Given the description of an element on the screen output the (x, y) to click on. 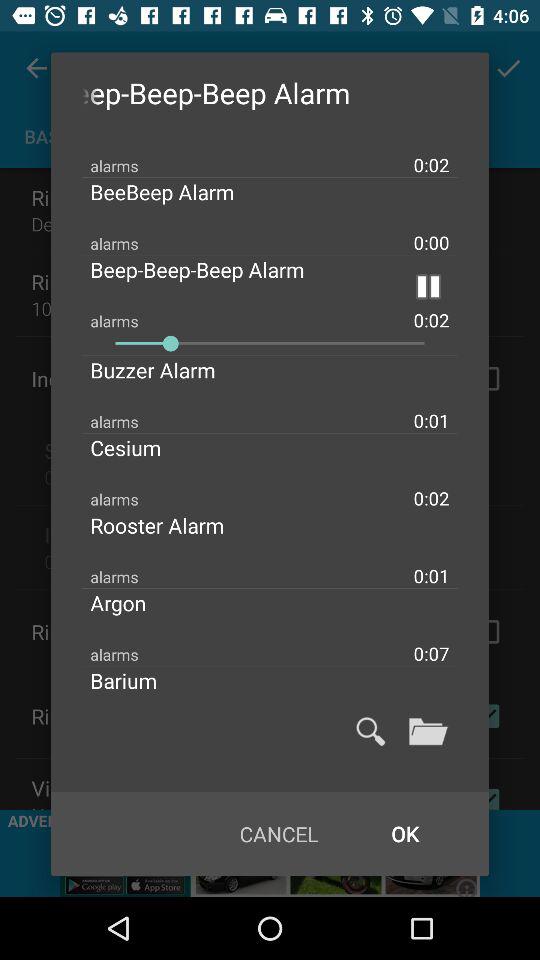
jump to beebeep alarm (178, 191)
